Given the description of an element on the screen output the (x, y) to click on. 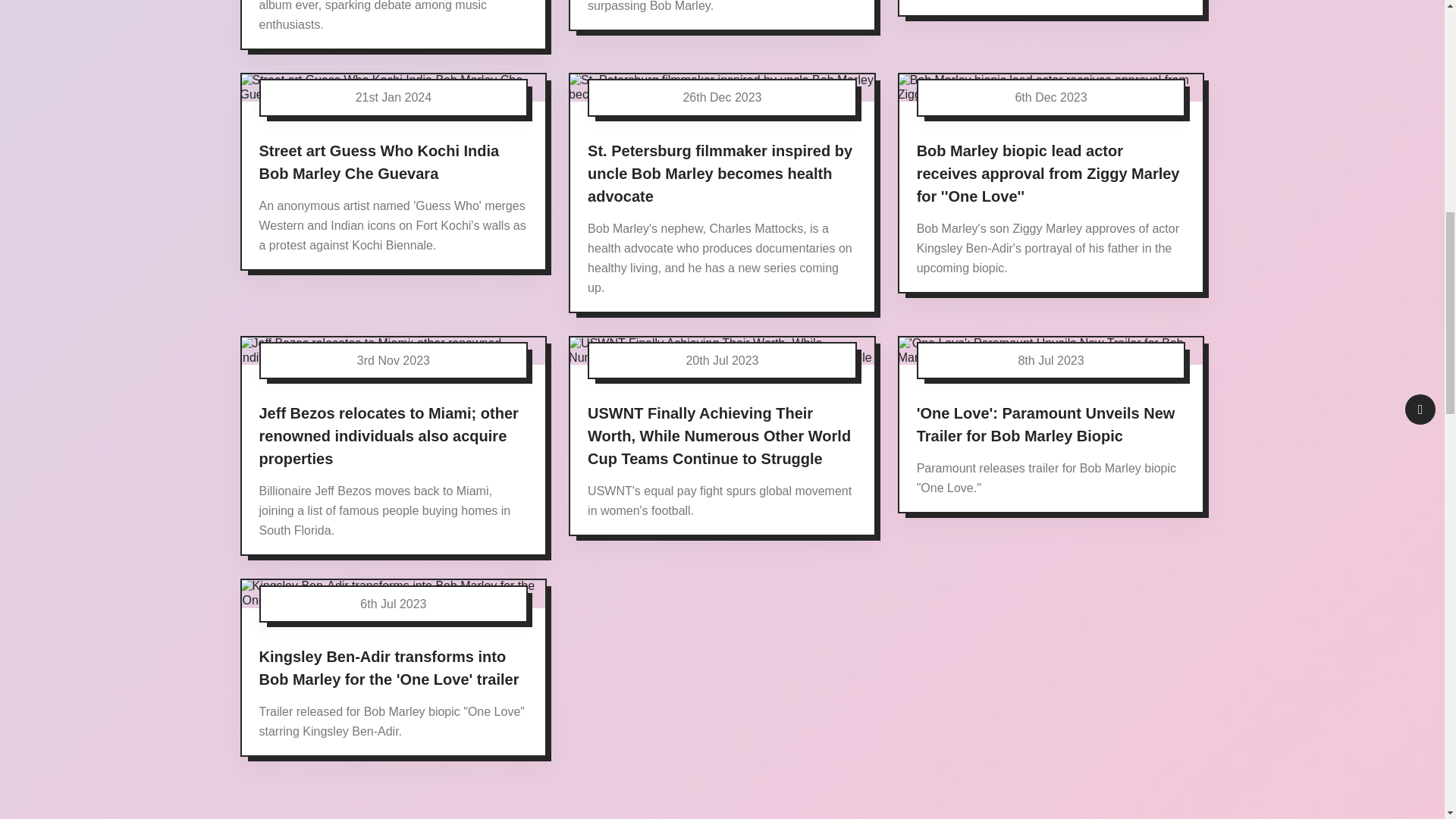
Street art Guess Who Kochi India Bob Marley Che Guevara (379, 160)
